Given the description of an element on the screen output the (x, y) to click on. 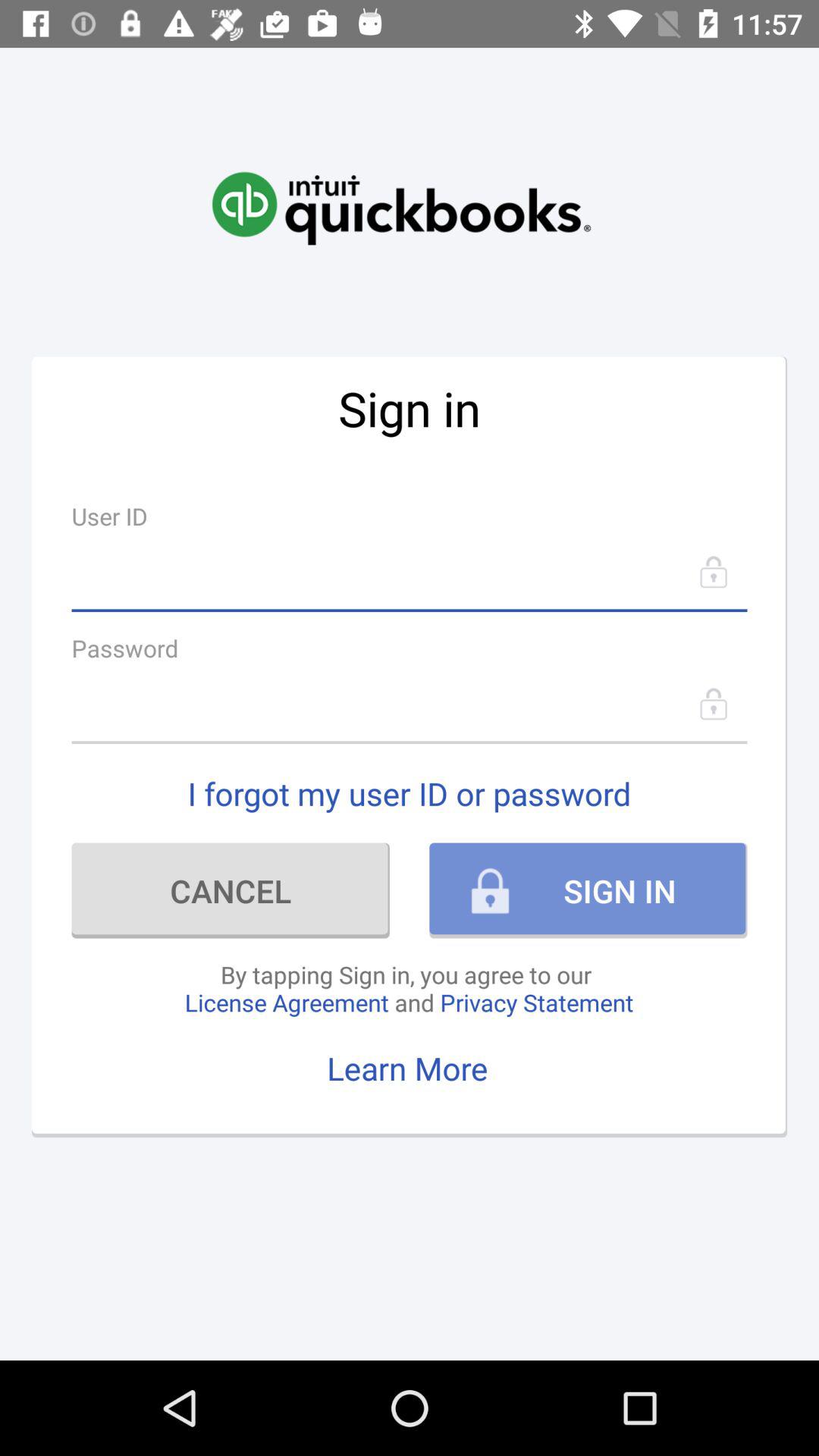
open the icon below cancel item (408, 988)
